Given the description of an element on the screen output the (x, y) to click on. 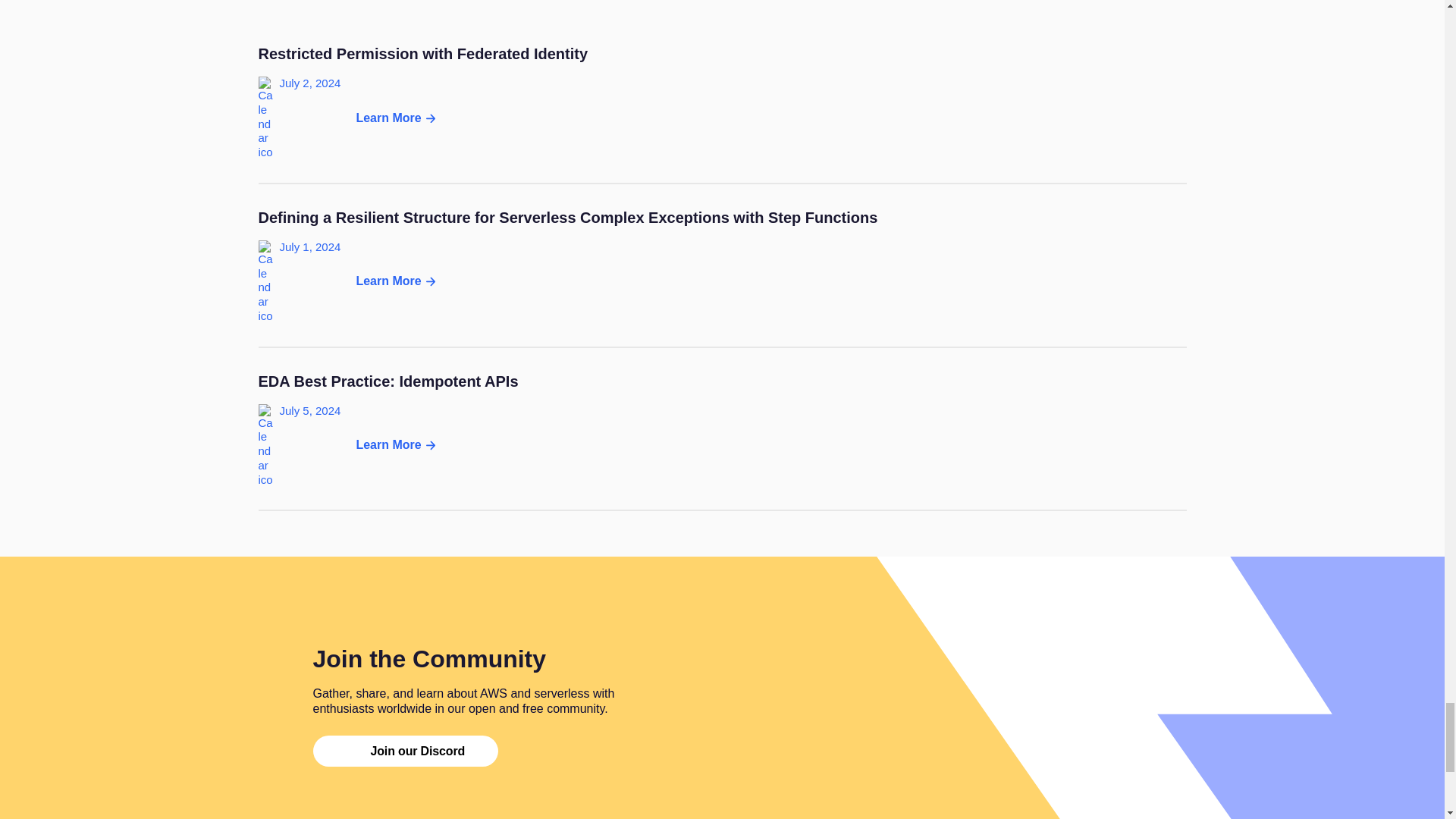
Join our Discord (721, 441)
